Given the description of an element on the screen output the (x, y) to click on. 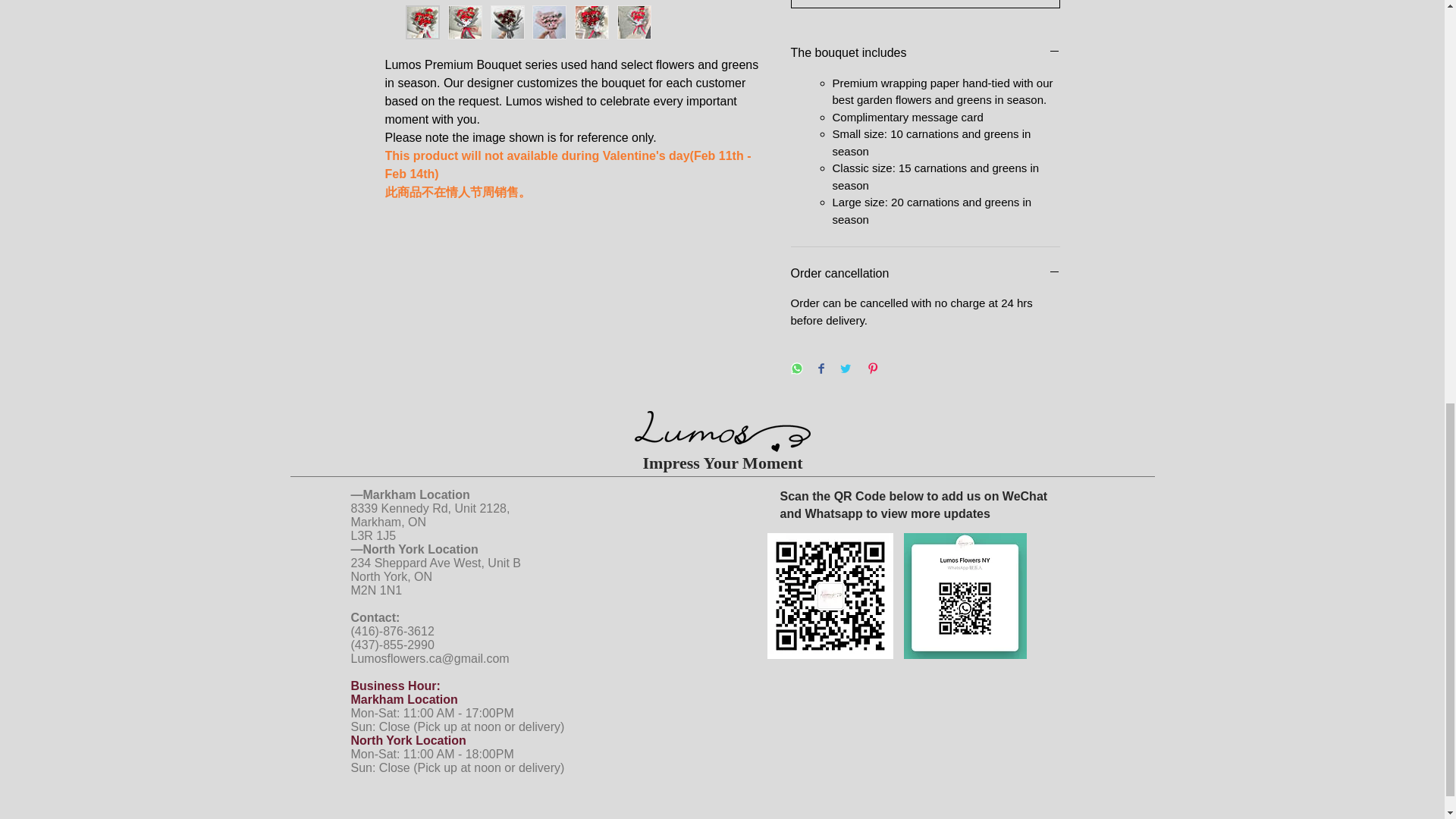
The bouquet includes (924, 53)
Order cancellation (924, 273)
Add to Cart (924, 4)
